Given the description of an element on the screen output the (x, y) to click on. 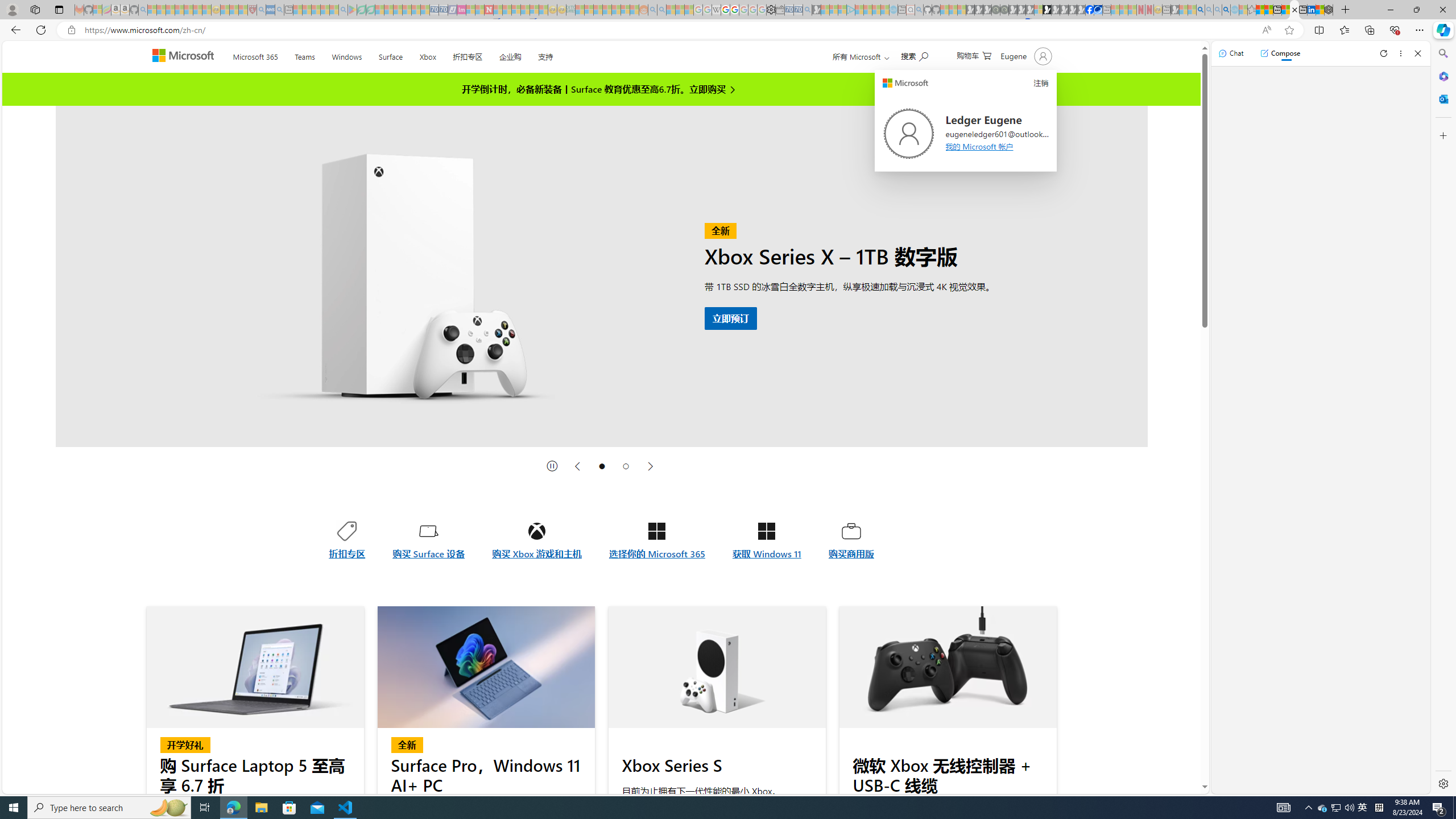
Favorites - Sleeping (1251, 9)
Pause (552, 466)
Search (1442, 53)
Surface (389, 54)
Teams (303, 54)
Restore (1416, 9)
utah sues federal government - Search - Sleeping (279, 9)
Surface (390, 54)
Close Customize pane (1442, 135)
